Given the description of an element on the screen output the (x, y) to click on. 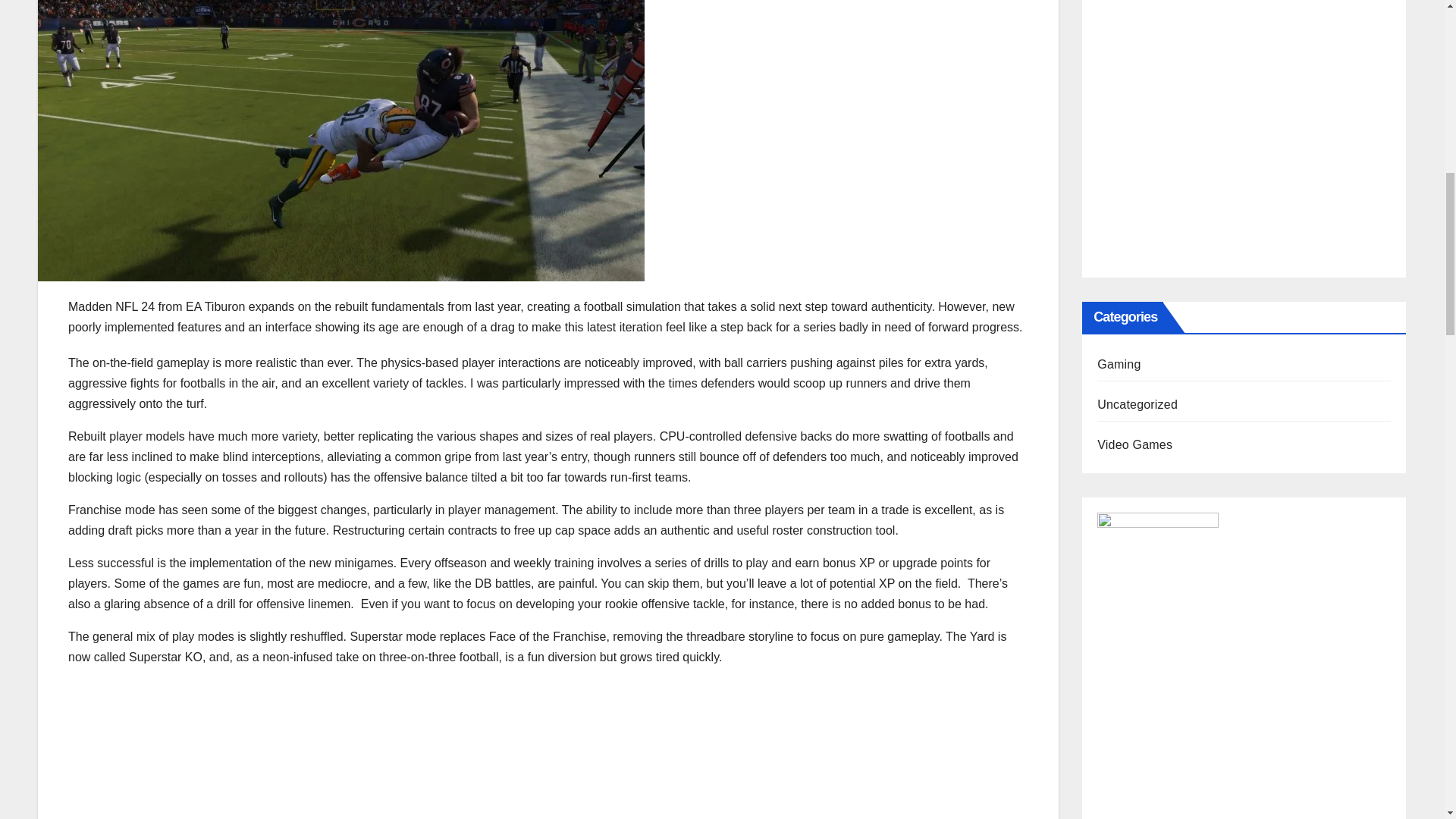
Madden 24 Official Reveal Trailer (310, 749)
